Given the description of an element on the screen output the (x, y) to click on. 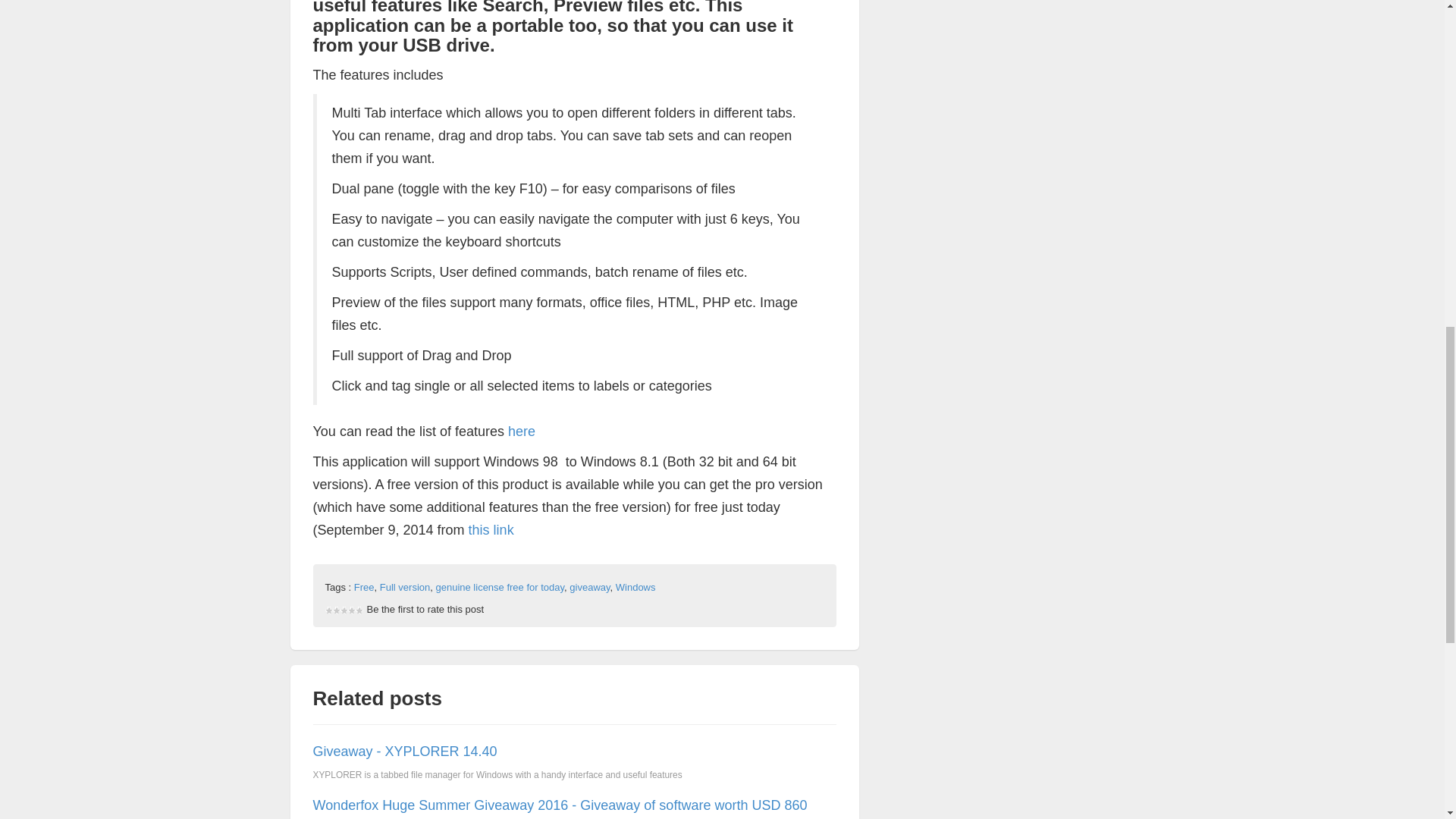
Full version (404, 586)
Free (363, 586)
Windows (635, 586)
4 (339, 615)
this link (490, 529)
Giveaway - XYPLORER 14.40 (404, 751)
here (521, 431)
1 (327, 615)
Rate this 2 stars out of 5 (331, 615)
Rate this 1 star out of 5 (327, 615)
Rate this 4 stars out of 5 (339, 615)
giveaway (589, 586)
5 (343, 615)
2 (331, 615)
